Given the description of an element on the screen output the (x, y) to click on. 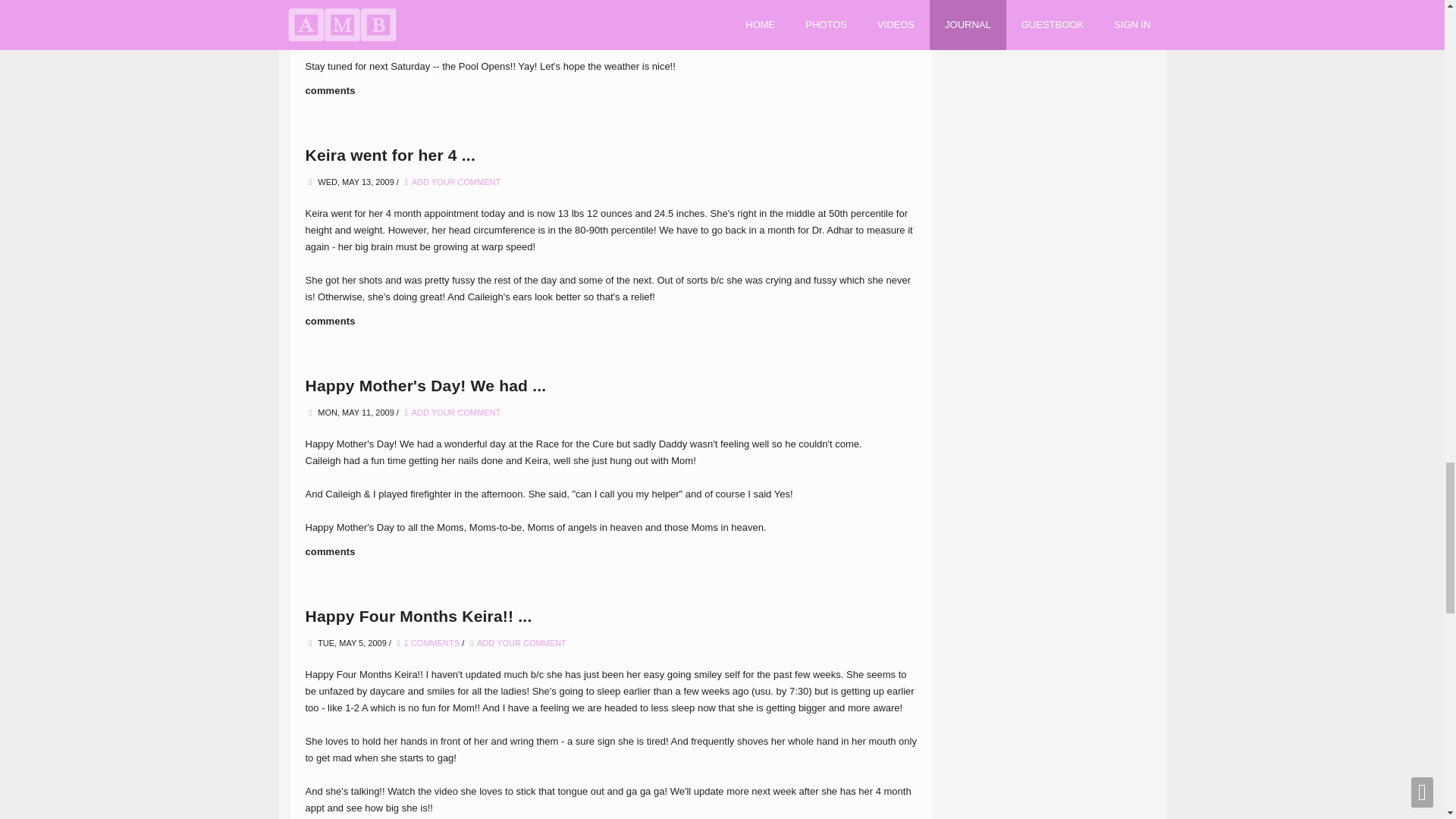
1 COMMENTS (432, 642)
ADD YOUR COMMENT (521, 642)
ADD YOUR COMMENT (456, 181)
ADD YOUR COMMENT (456, 411)
